Given the description of an element on the screen output the (x, y) to click on. 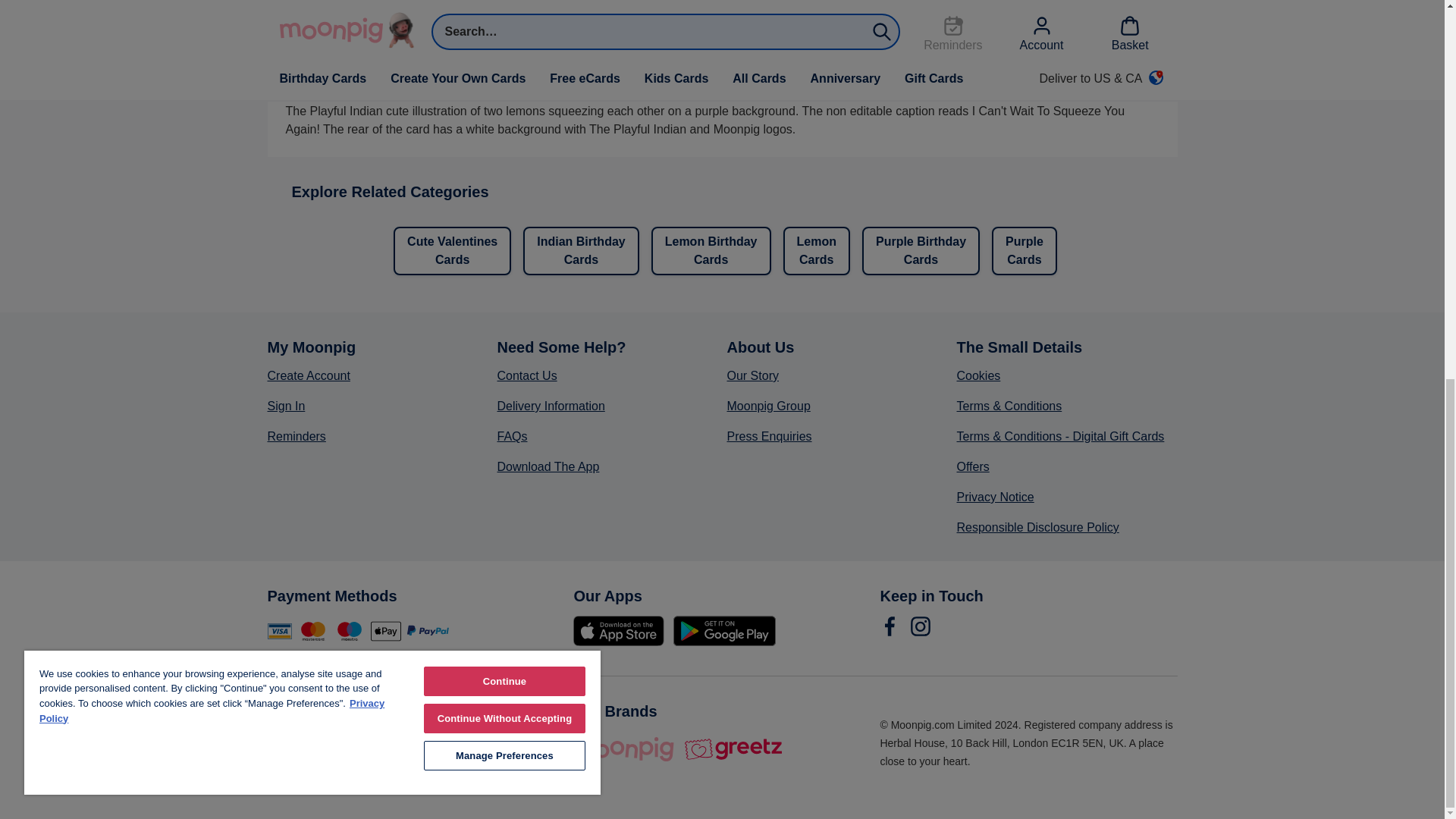
United States of America (325, 743)
Ireland (409, 743)
Australia (366, 743)
United Kingdom (282, 743)
